Given the description of an element on the screen output the (x, y) to click on. 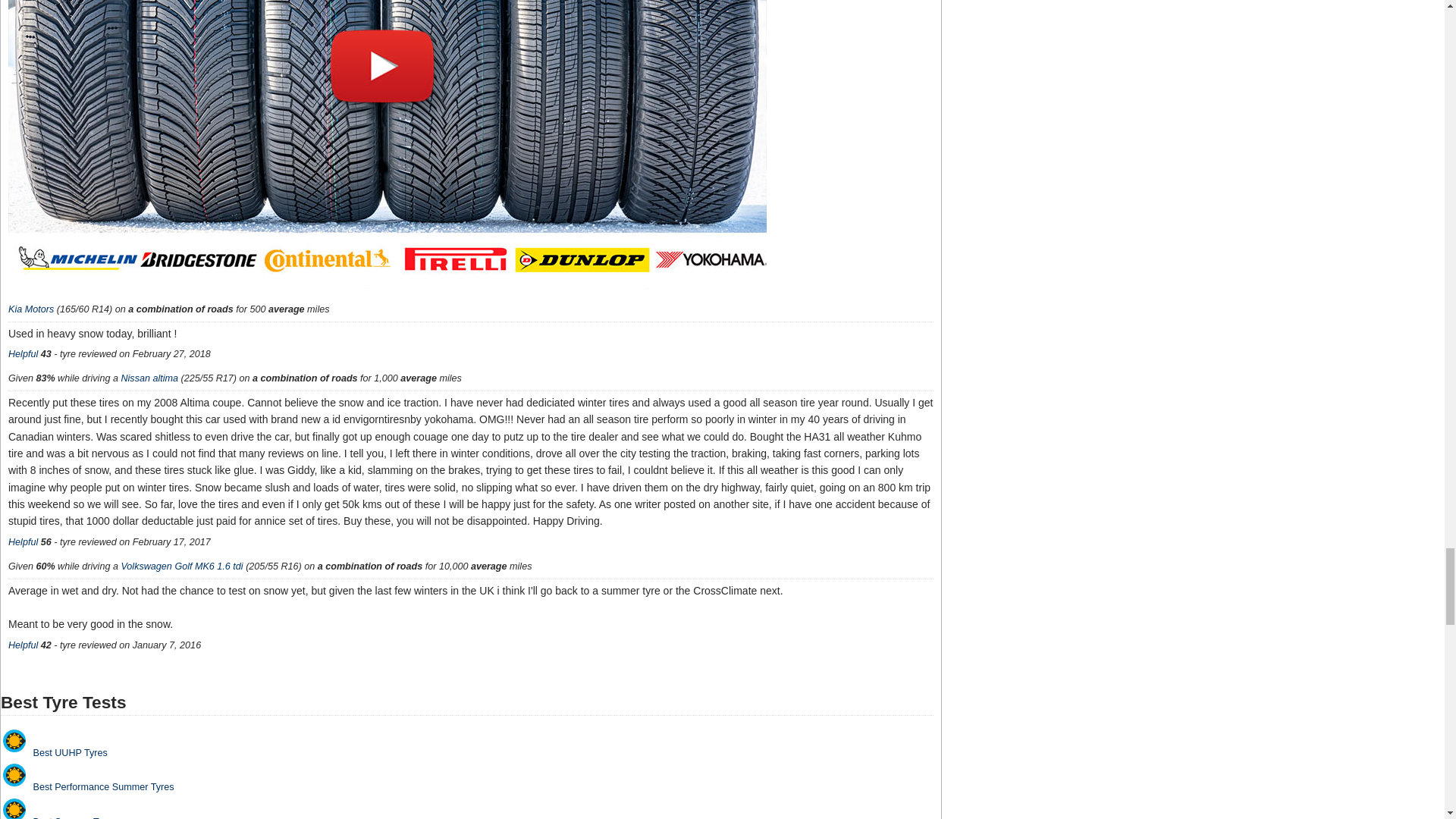
Best UUHP Tyres (14, 740)
Best Performance Summer Tyres (14, 774)
Best Summer Tyres (14, 808)
